Given the description of an element on the screen output the (x, y) to click on. 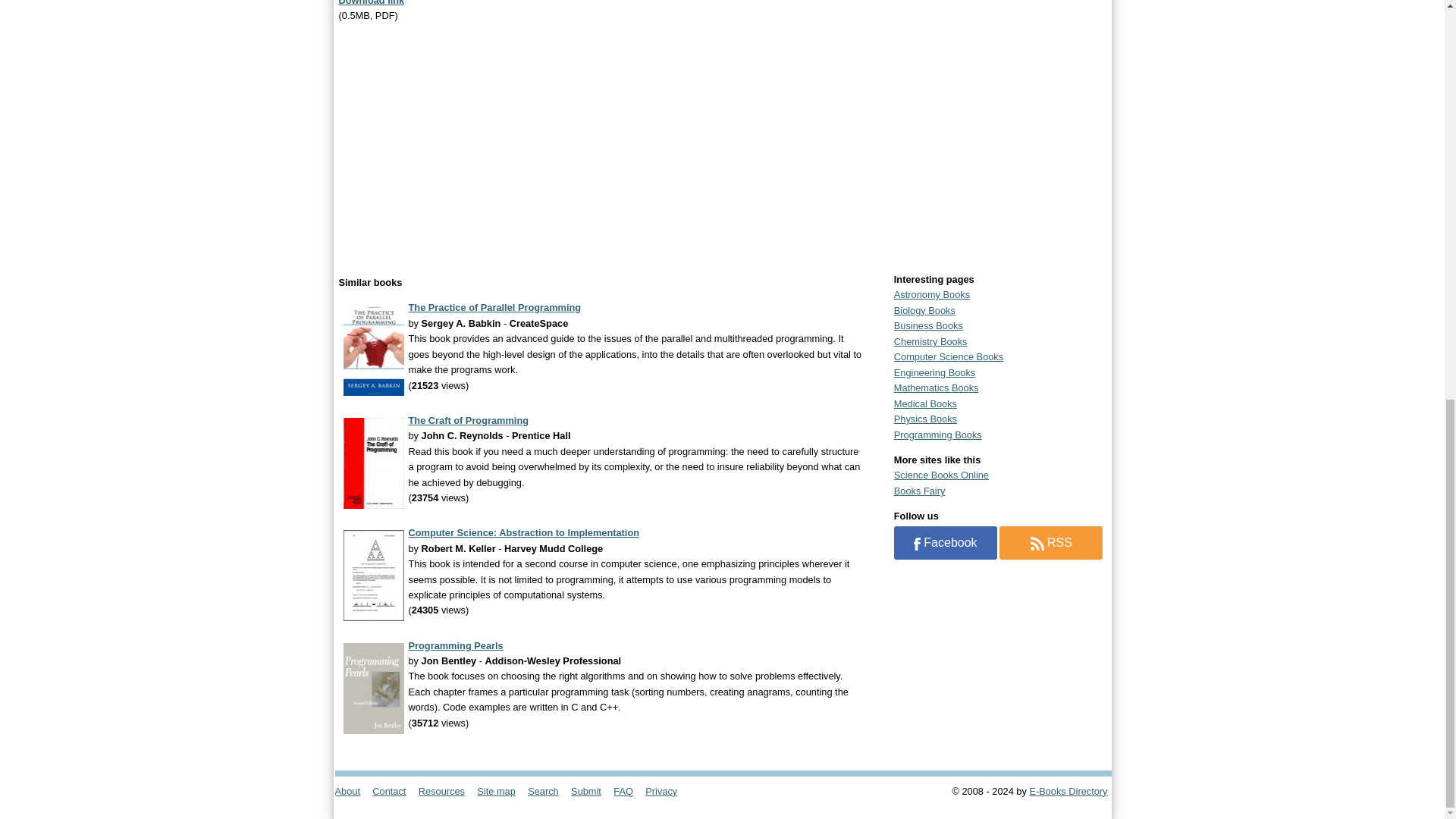
About (351, 790)
Computer Science: Abstraction to Implementation (523, 532)
Contact (393, 790)
The Practice of Parallel Programming (493, 307)
Submit (590, 790)
FAQ (627, 790)
Site map (500, 790)
Programming Pearls (454, 645)
Download link (370, 2)
Privacy (666, 790)
The Craft of Programming (467, 419)
Resources (446, 790)
Search (547, 790)
